Given the description of an element on the screen output the (x, y) to click on. 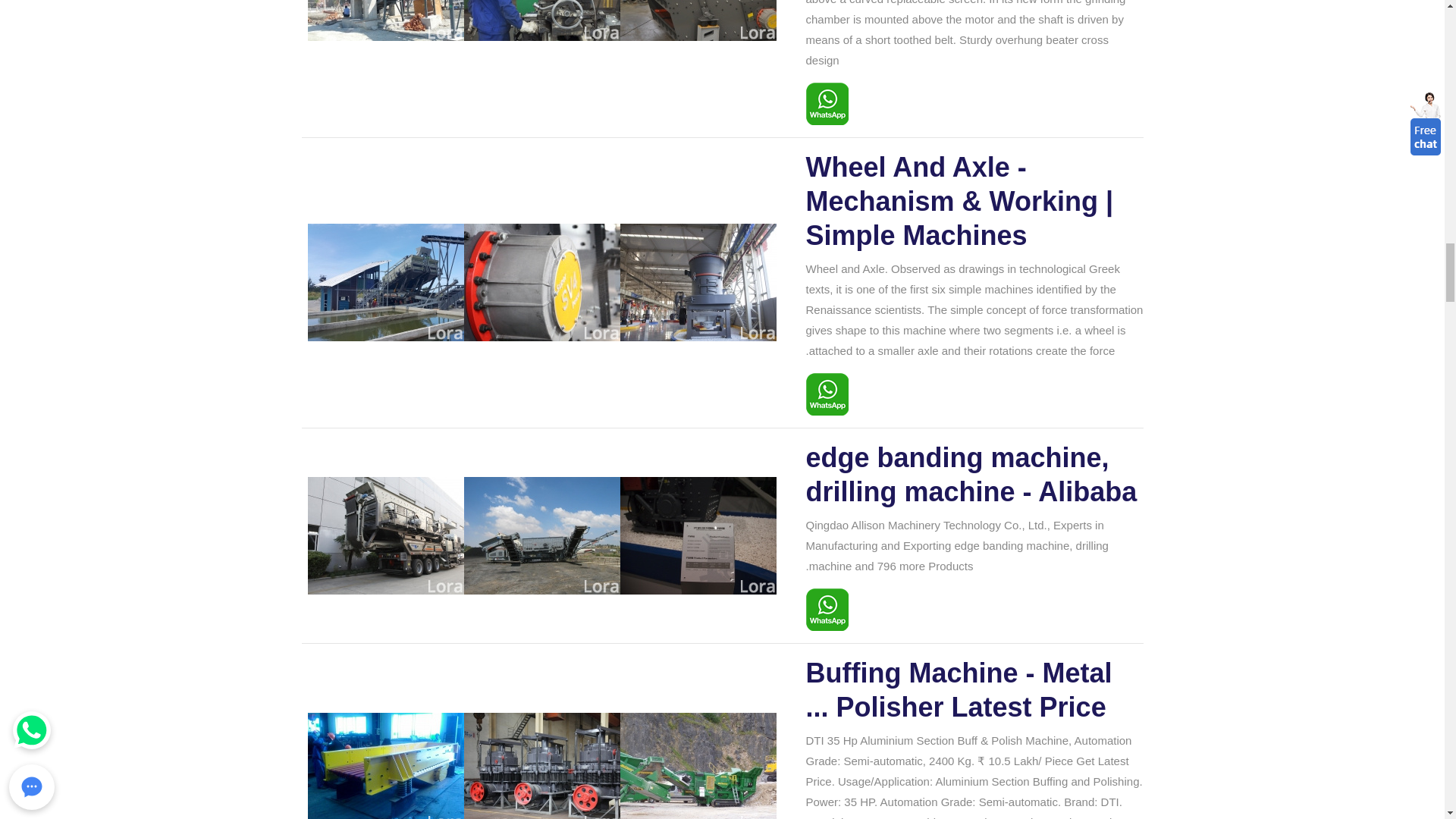
Buffing Machine - Metal Polisher Latest Price ... (973, 689)
edge banding machine, drilling machine - Alibaba (973, 474)
